Given the description of an element on the screen output the (x, y) to click on. 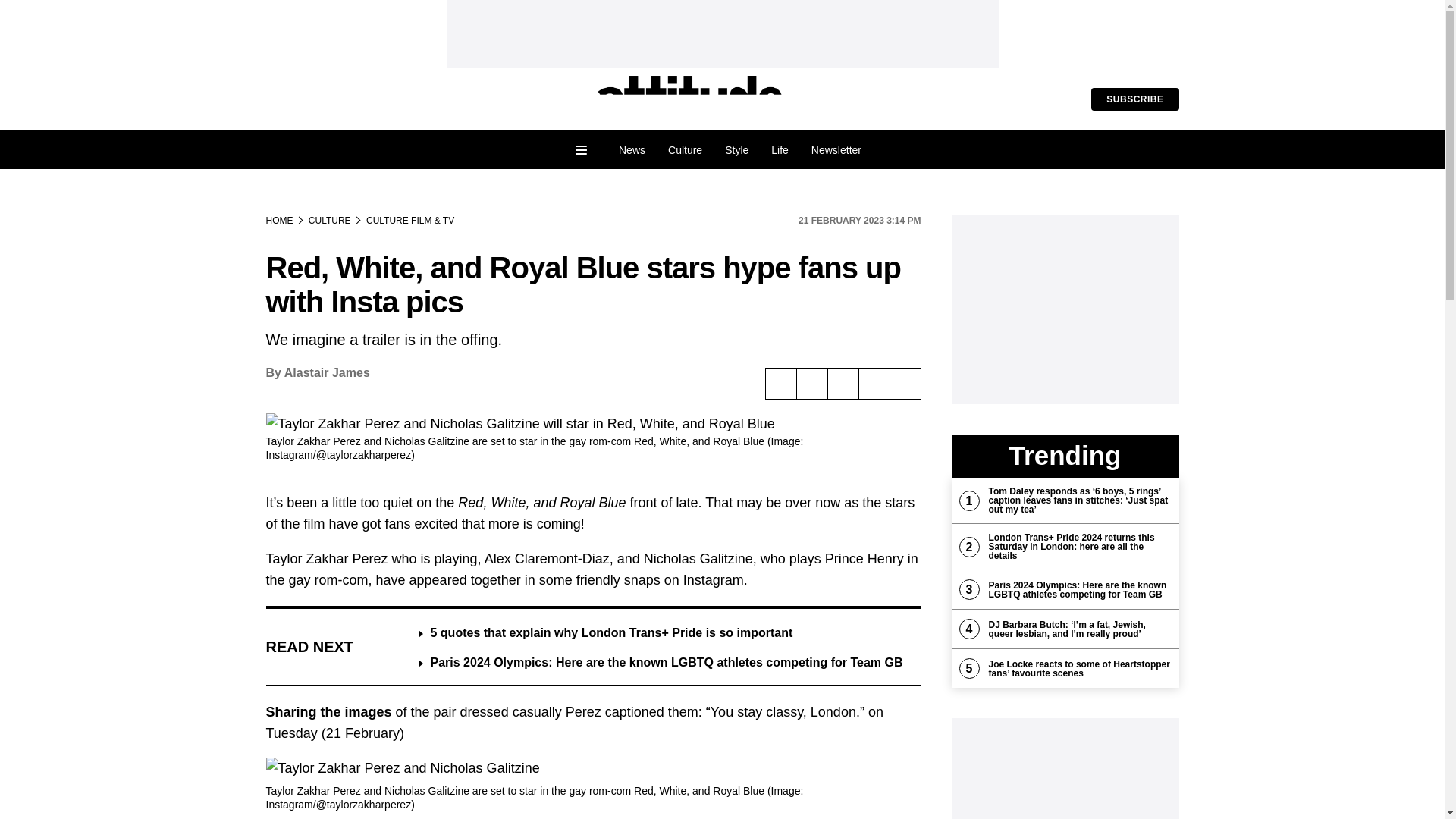
Style (736, 150)
Culture (684, 150)
Life (779, 150)
Skip to main content (61, 10)
Newsletter (835, 150)
News (631, 150)
SUBSCRIBE (1134, 99)
Home (689, 99)
